Given the description of an element on the screen output the (x, y) to click on. 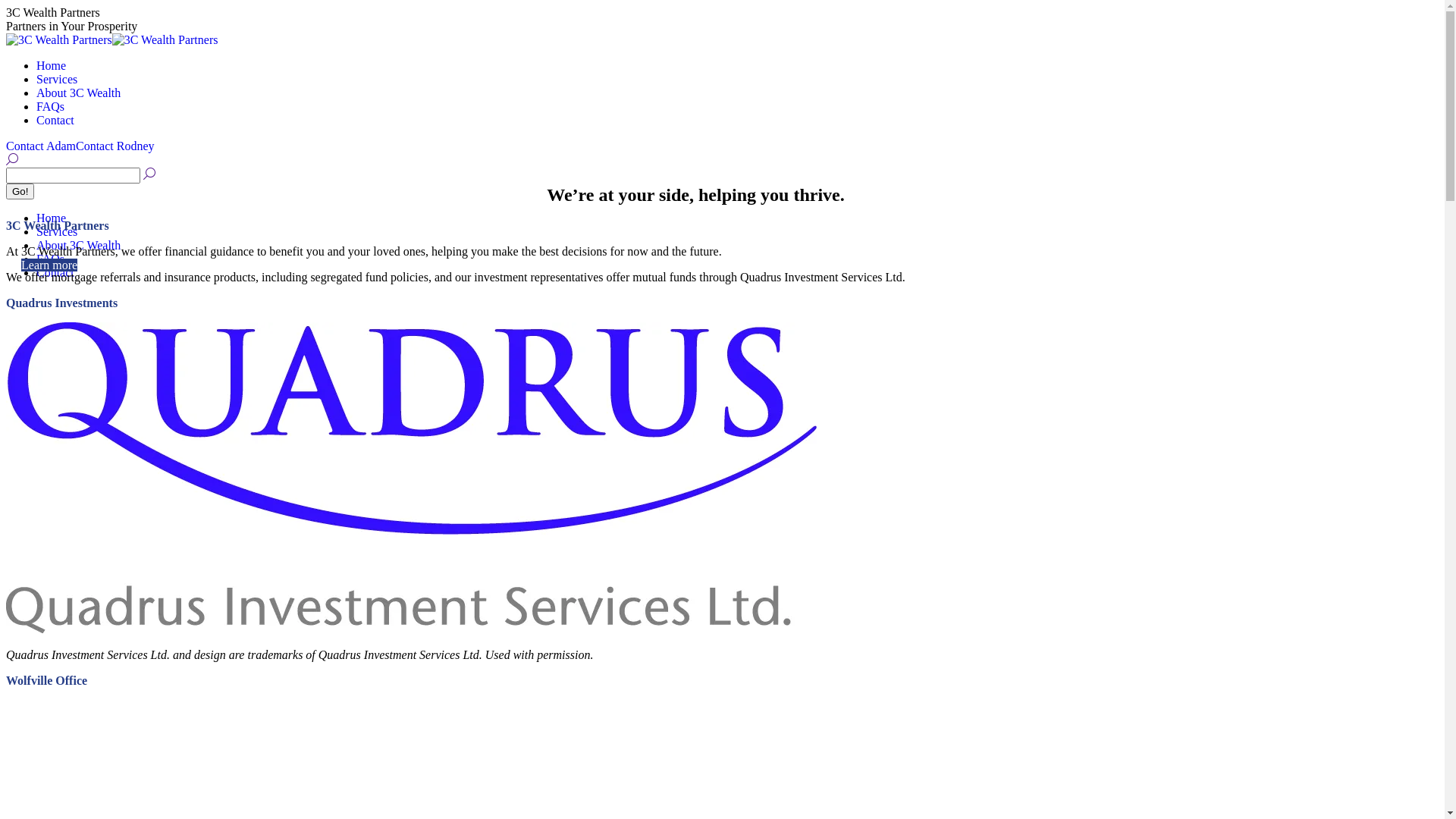
About 3C Wealth Element type: text (78, 92)
Contact Element type: text (55, 119)
Home Element type: text (50, 217)
Contact Element type: text (55, 272)
About 3C Wealth Element type: text (78, 244)
Contact Rodney Element type: text (114, 145)
Skip to content Element type: text (5, 5)
Services Element type: text (56, 231)
Contact Adam Element type: text (40, 145)
Search form Element type: hover (73, 175)
FAQs Element type: text (50, 106)
FAQs Element type: text (50, 258)
Go! Element type: text (20, 191)
Learn more Element type: text (49, 264)
Services Element type: text (56, 78)
Home Element type: text (50, 65)
